Given the description of an element on the screen output the (x, y) to click on. 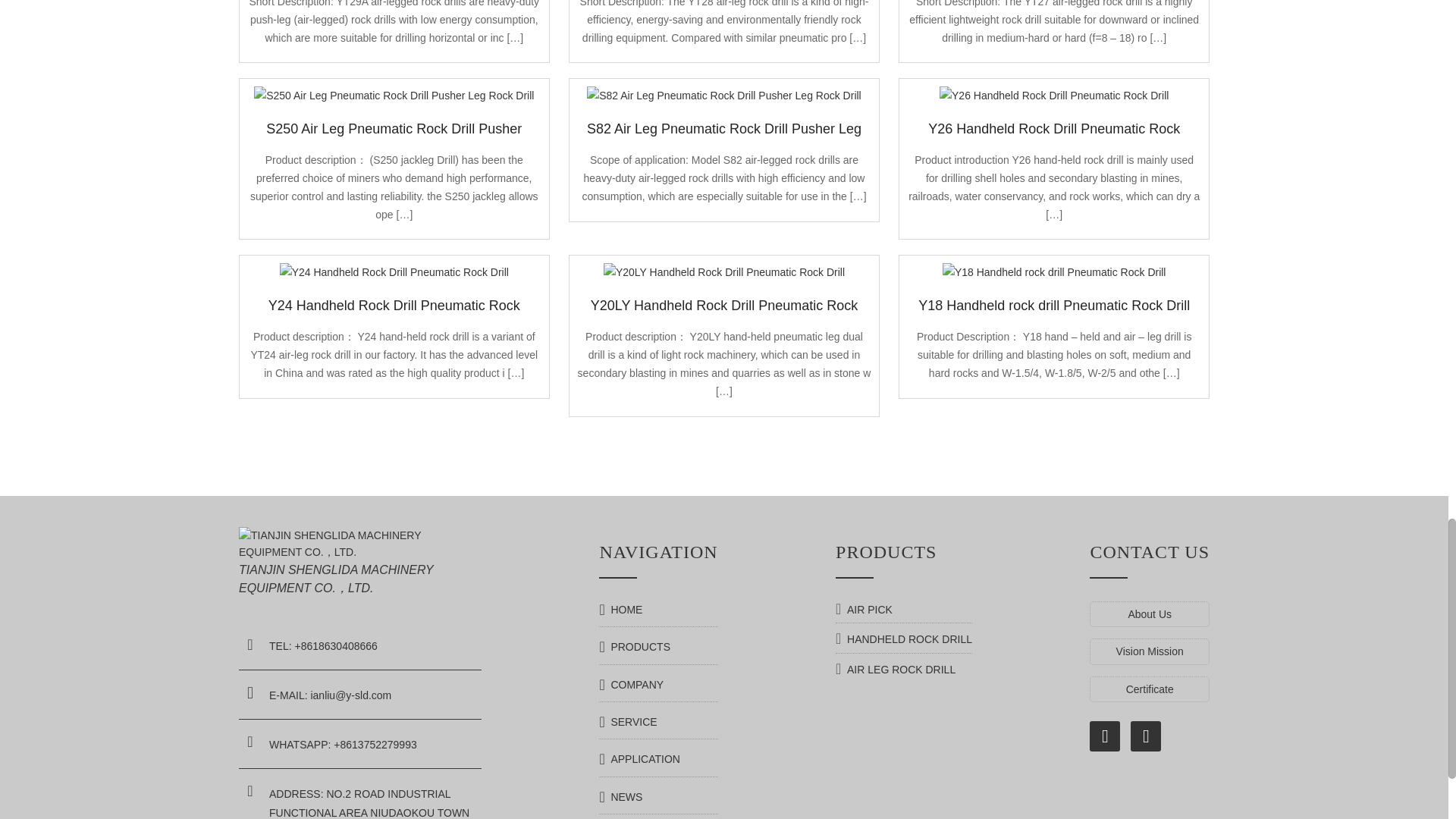
Y26 Handheld Rock Drill Pneumatic Rock Drill (1054, 96)
Y20LY Handheld Rock Drill Pneumatic Rock Drill (724, 272)
Y18 Handheld rock drill Pneumatic Rock Drill (1054, 272)
S82 Air Leg Pneumatic Rock Drill Pusher Leg Rock Drill (723, 96)
S250 Air Leg Pneumatic Rock Drill Pusher Leg Rock Drill (393, 96)
Y24 Handheld Rock Drill Pneumatic Rock Drill (393, 272)
